Given the description of an element on the screen output the (x, y) to click on. 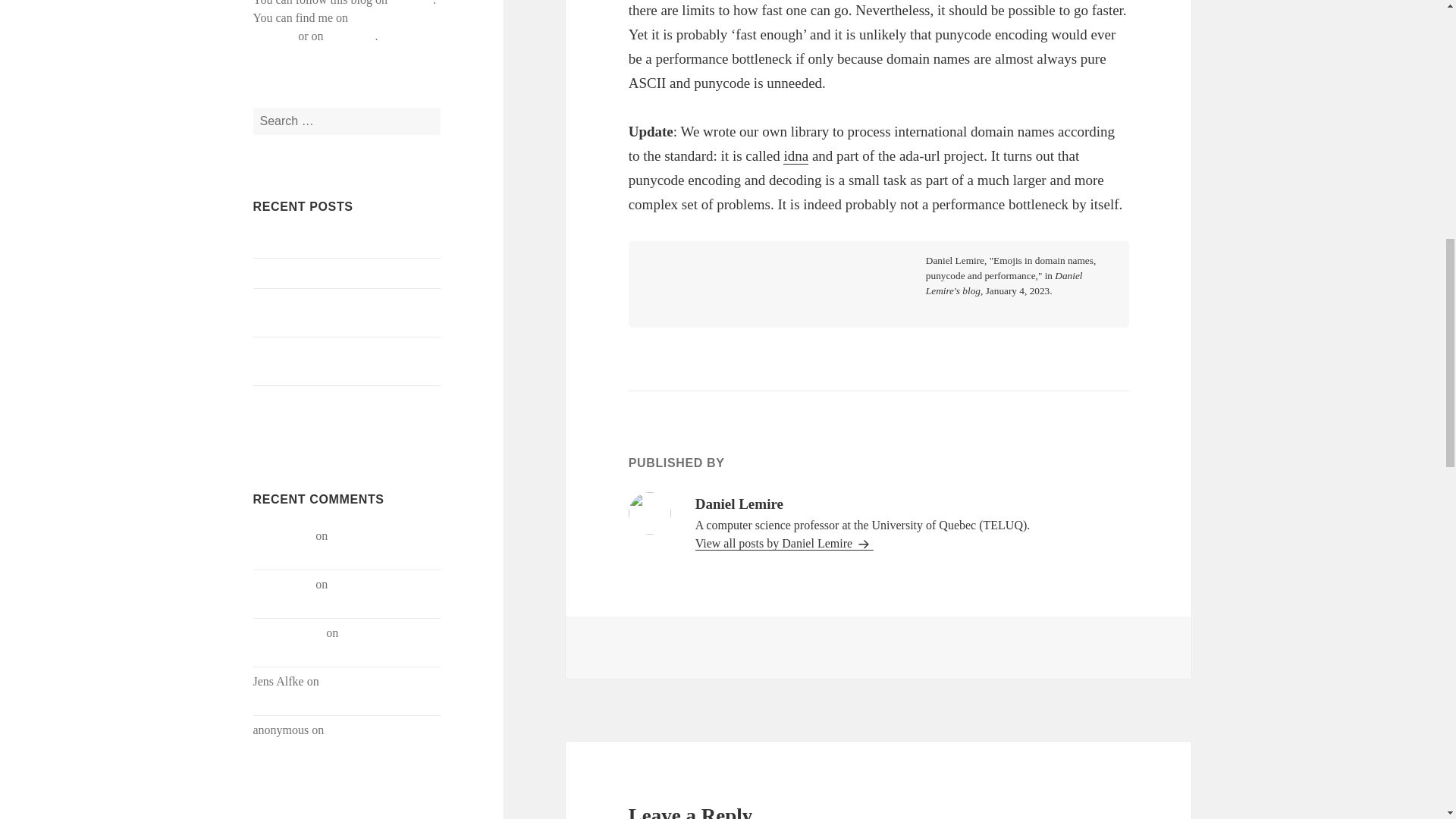
How much of your binary executable is just ASCII text? (341, 593)
Mastodon (350, 35)
Derek Jones (283, 584)
How big are your docker images? (334, 273)
Daniel Lemire (288, 632)
Storage costs are plummeting (325, 242)
How much of your binary executable is just ASCII text? (343, 312)
Java is not a safe language (331, 738)
Derek Jones (283, 535)
telegram (411, 2)
Storage costs are plummeting (333, 544)
